Given the description of an element on the screen output the (x, y) to click on. 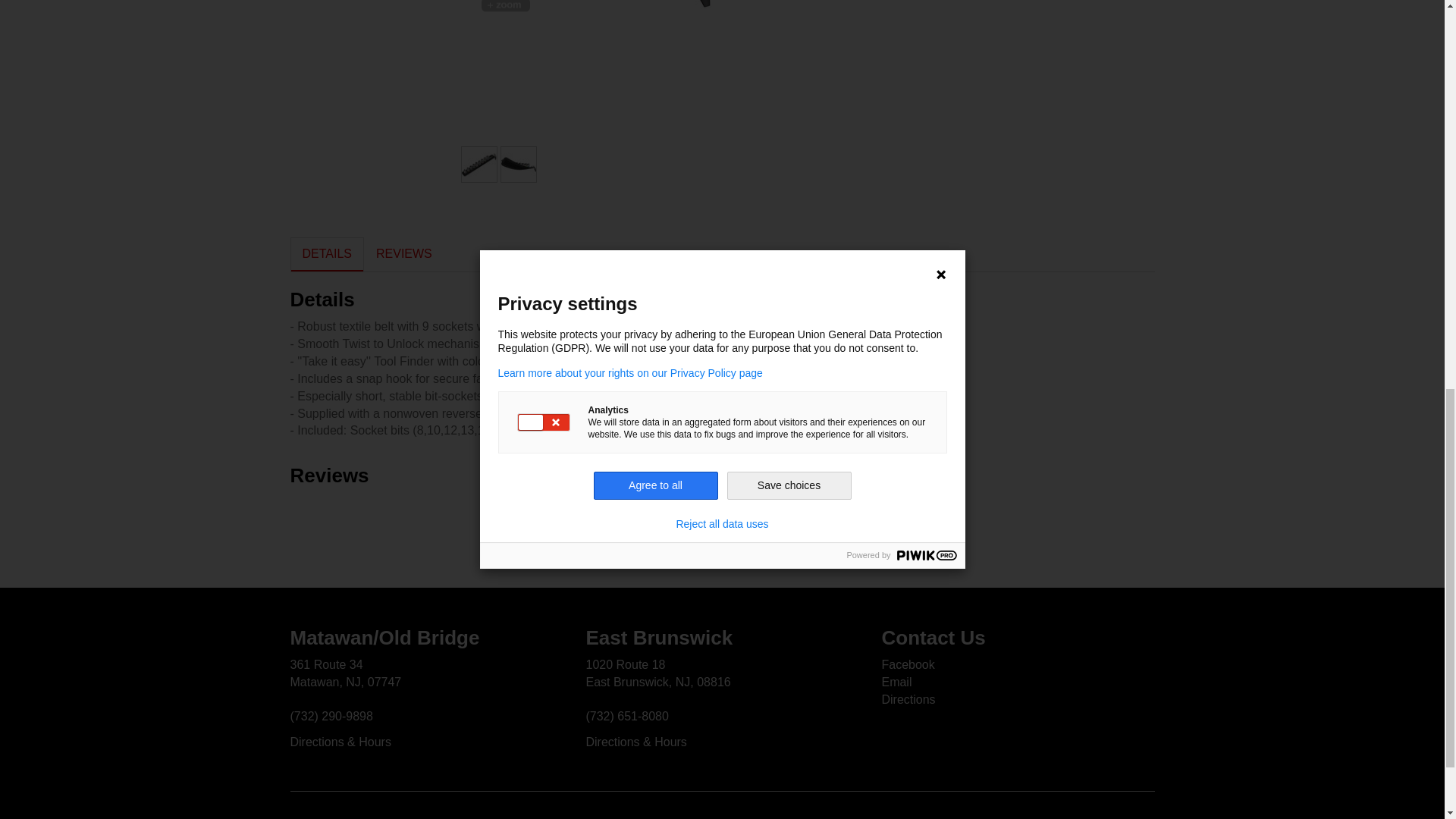
REVIEWS (404, 254)
Wera Zyklop Bit Belt B1  (499, 4)
Write the First Review (721, 509)
DETAILS (326, 254)
